Given the description of an element on the screen output the (x, y) to click on. 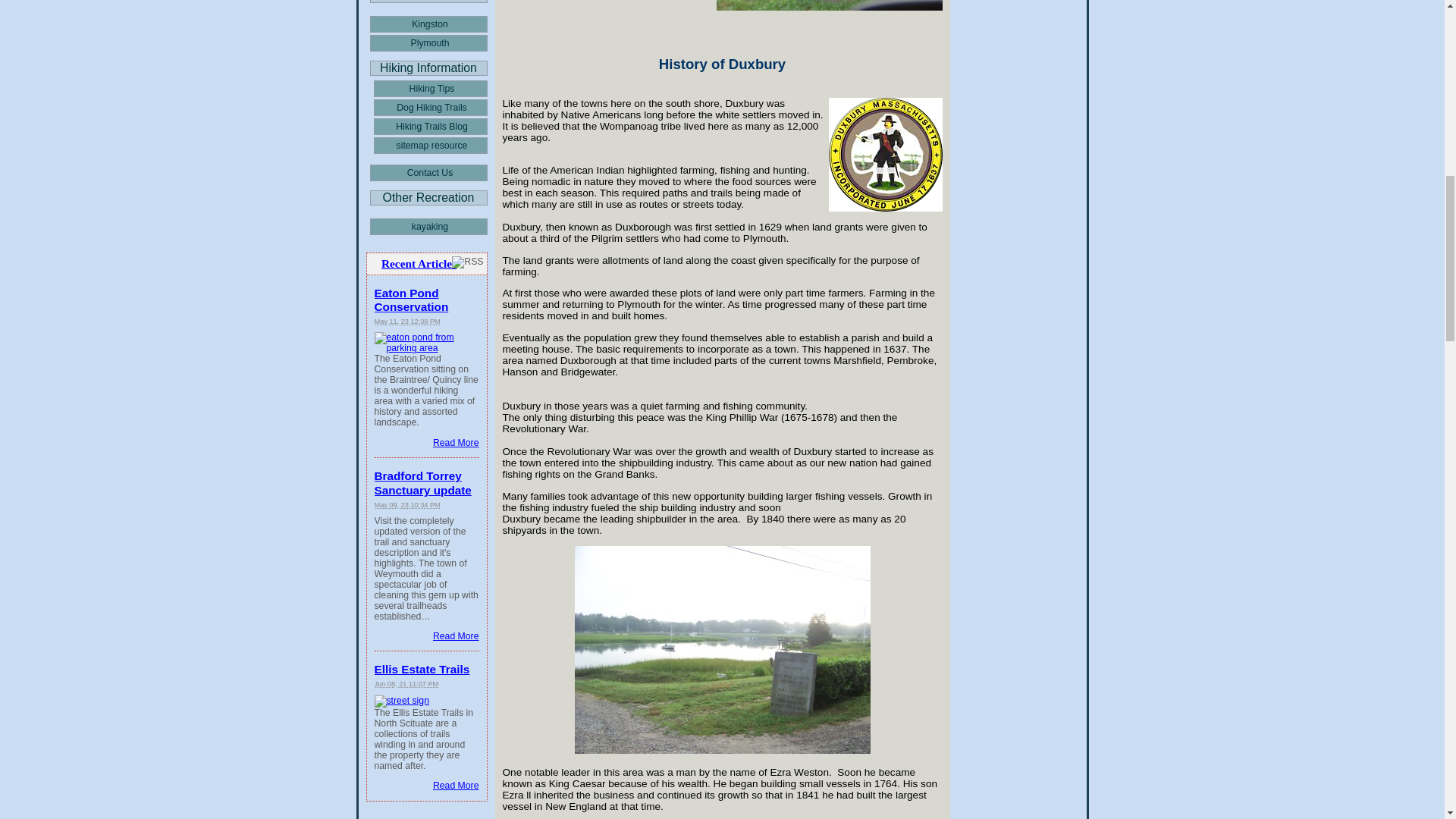
2023-05-09T22:34:03-0400 (407, 503)
2021-06-08T23:07:00-0400 (406, 683)
sign on washington st near historic shipyard site (722, 649)
Kingston (428, 23)
sign commemorating early shipyards in Duxbury (829, 5)
Plymouth (428, 43)
2023-05-11T12:38:09-0400 (407, 321)
